Given the description of an element on the screen output the (x, y) to click on. 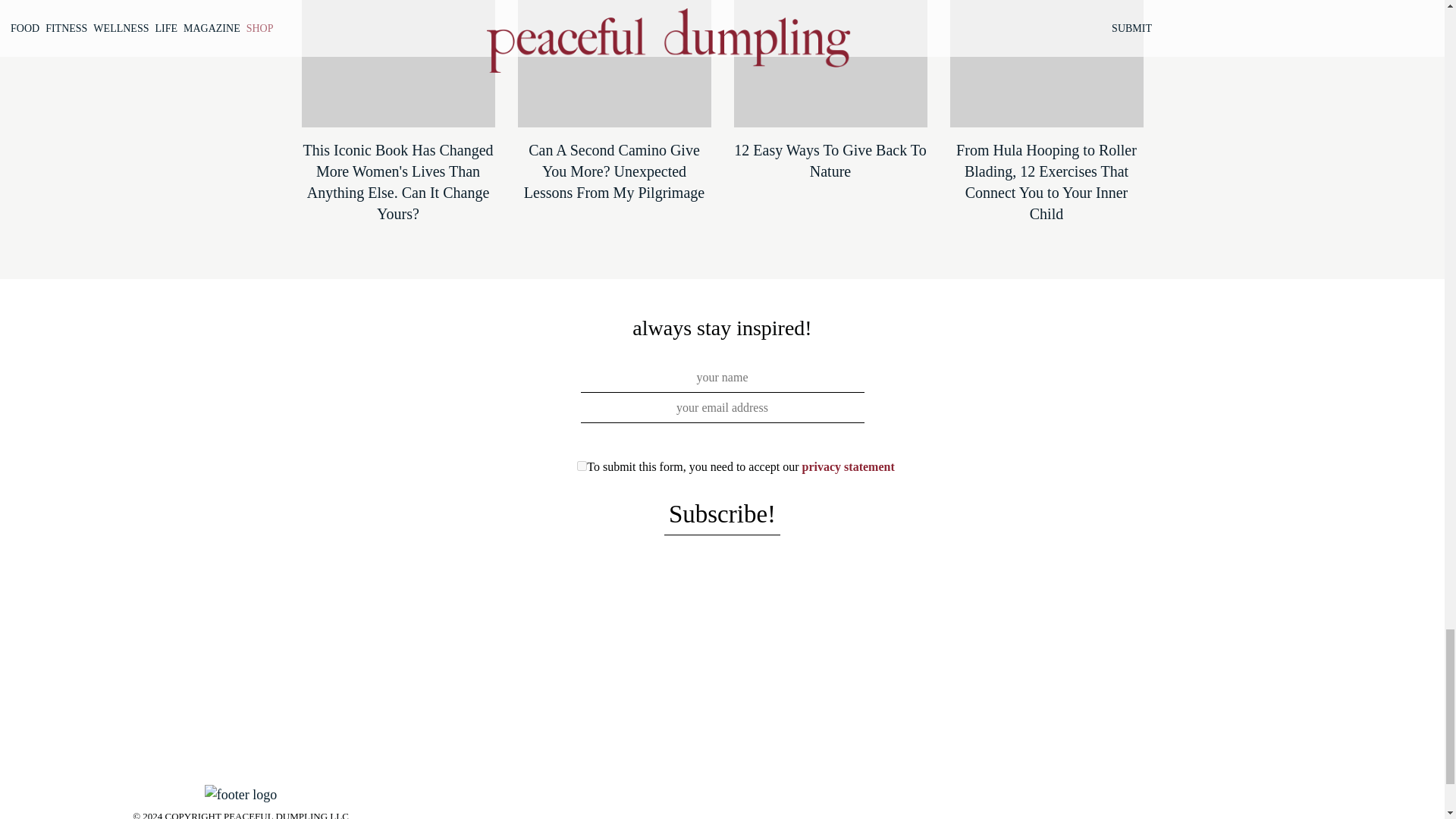
Subscribe! (721, 515)
Peaceful Dumpling (240, 793)
1 (581, 465)
